Given the description of an element on the screen output the (x, y) to click on. 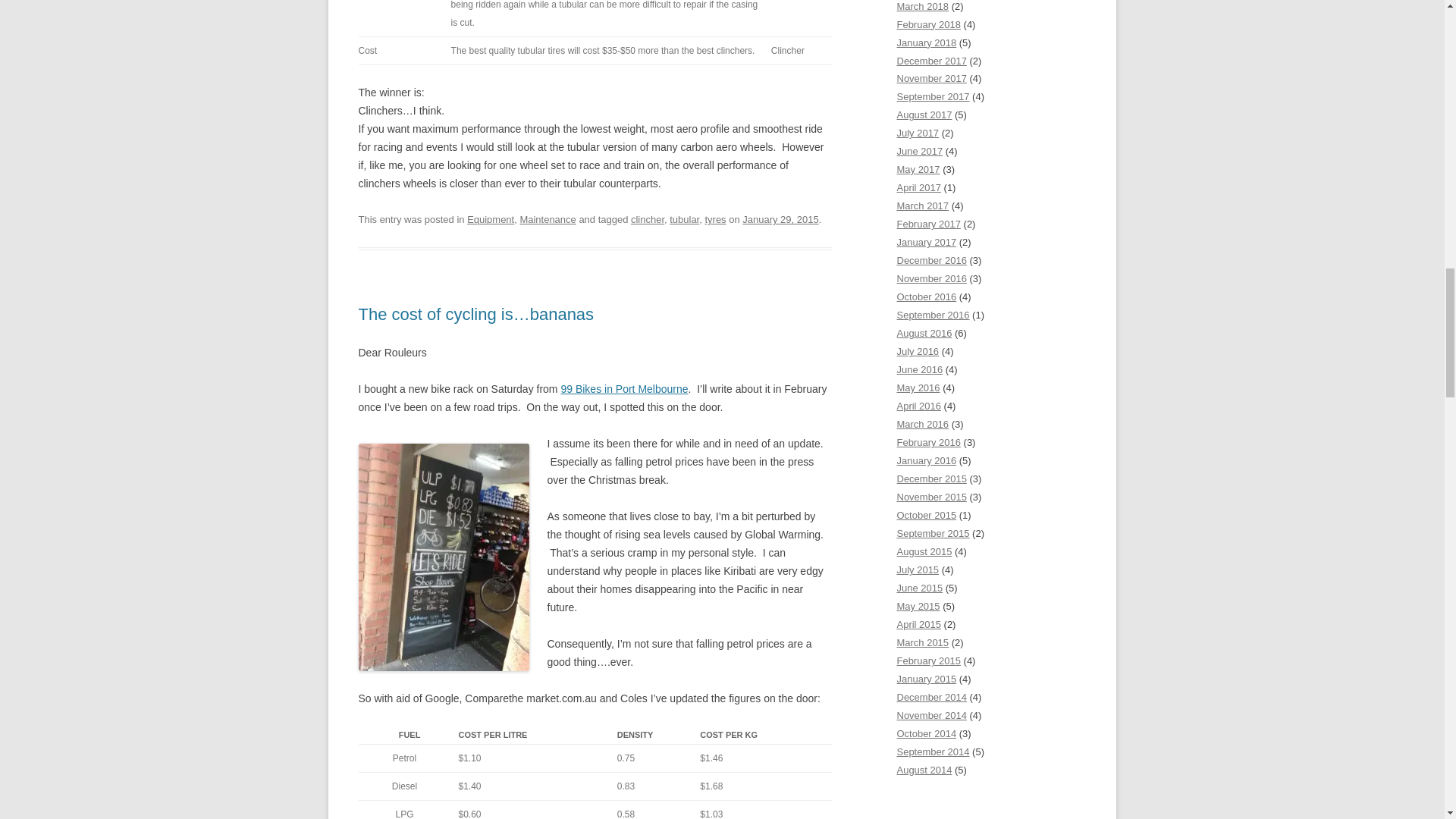
99 Bikes in Port Melbourne (623, 388)
January 29, 2015 (780, 219)
clincher (646, 219)
5:39 pm (780, 219)
tubular (683, 219)
99 Bikes Port Melbourne (623, 388)
Equipment (490, 219)
tyres (714, 219)
Maintenance (547, 219)
